Given the description of an element on the screen output the (x, y) to click on. 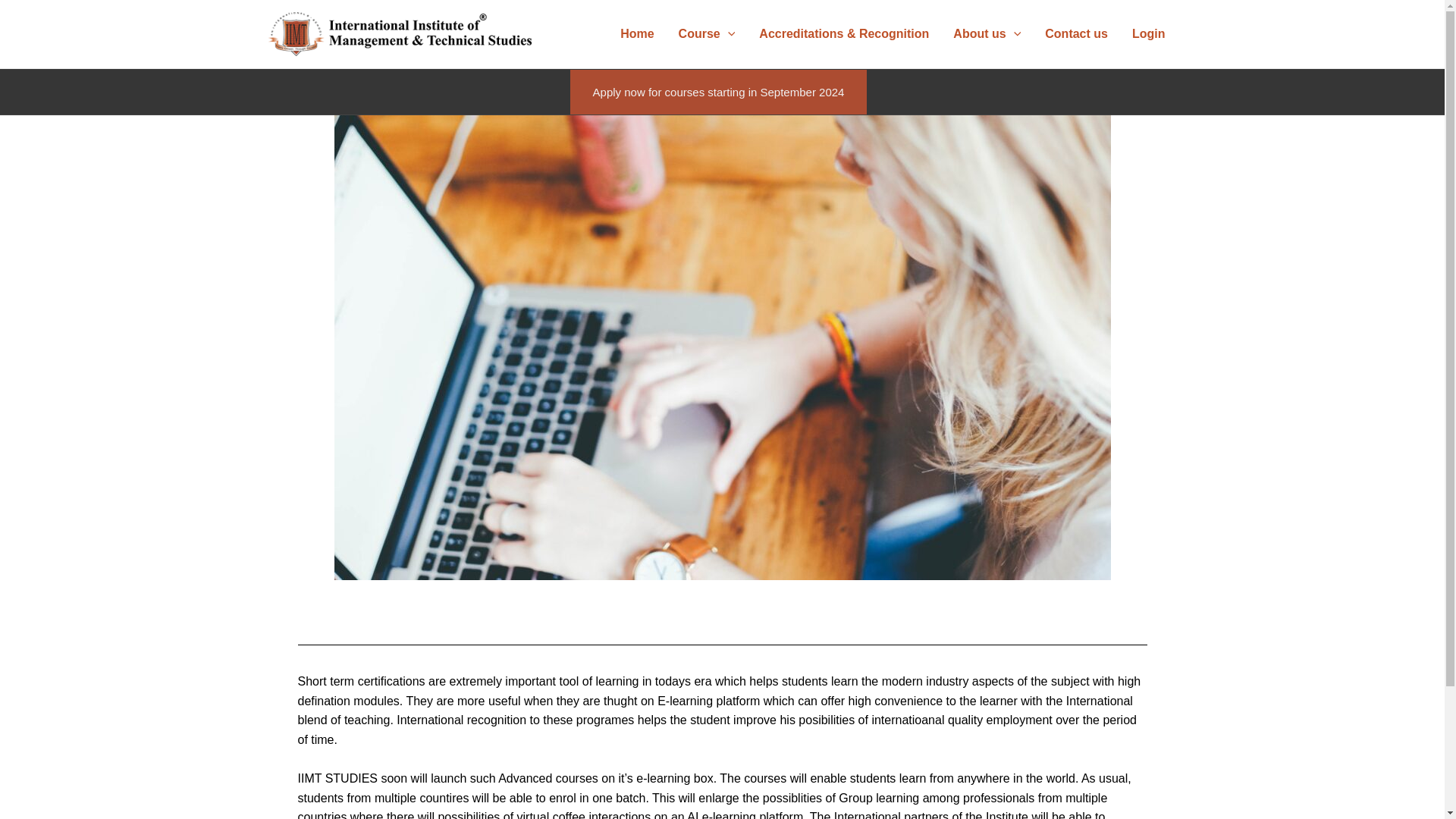
Home (636, 33)
Course (707, 33)
About us (986, 33)
Apply now for courses starting in September 2024 (718, 91)
Login (1148, 33)
Contact us (1075, 33)
